Given the description of an element on the screen output the (x, y) to click on. 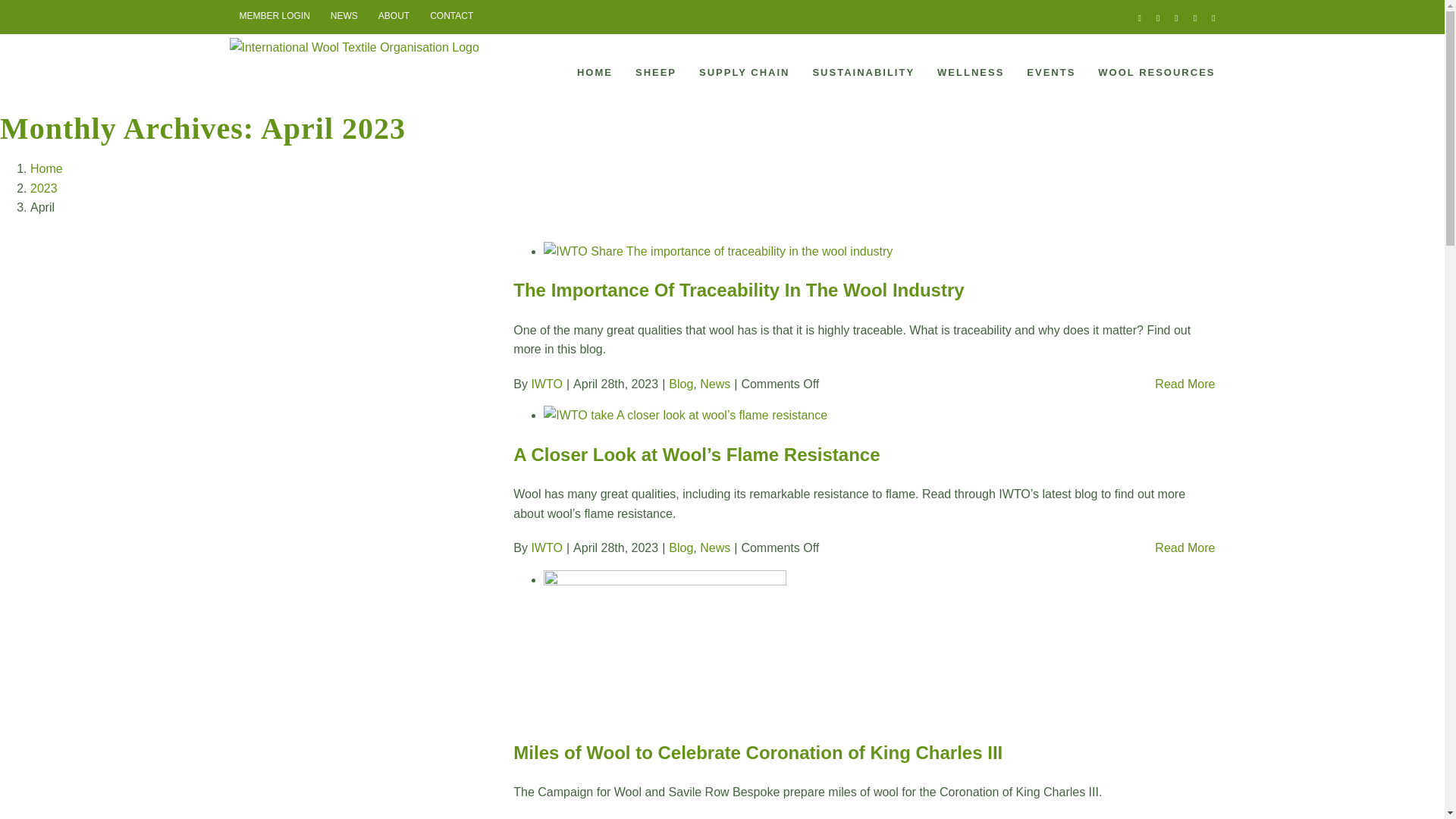
Posts by IWTO (546, 383)
The Importance Of Traceability In The Wool Industry (738, 290)
2023 (44, 187)
SUPPLY CHAIN (743, 71)
MEMBER LOGIN (273, 16)
CONTACT (451, 16)
WOOL RESOURCES (1155, 71)
Posts by IWTO (546, 547)
NEWS (344, 16)
Home (46, 168)
